Given the description of an element on the screen output the (x, y) to click on. 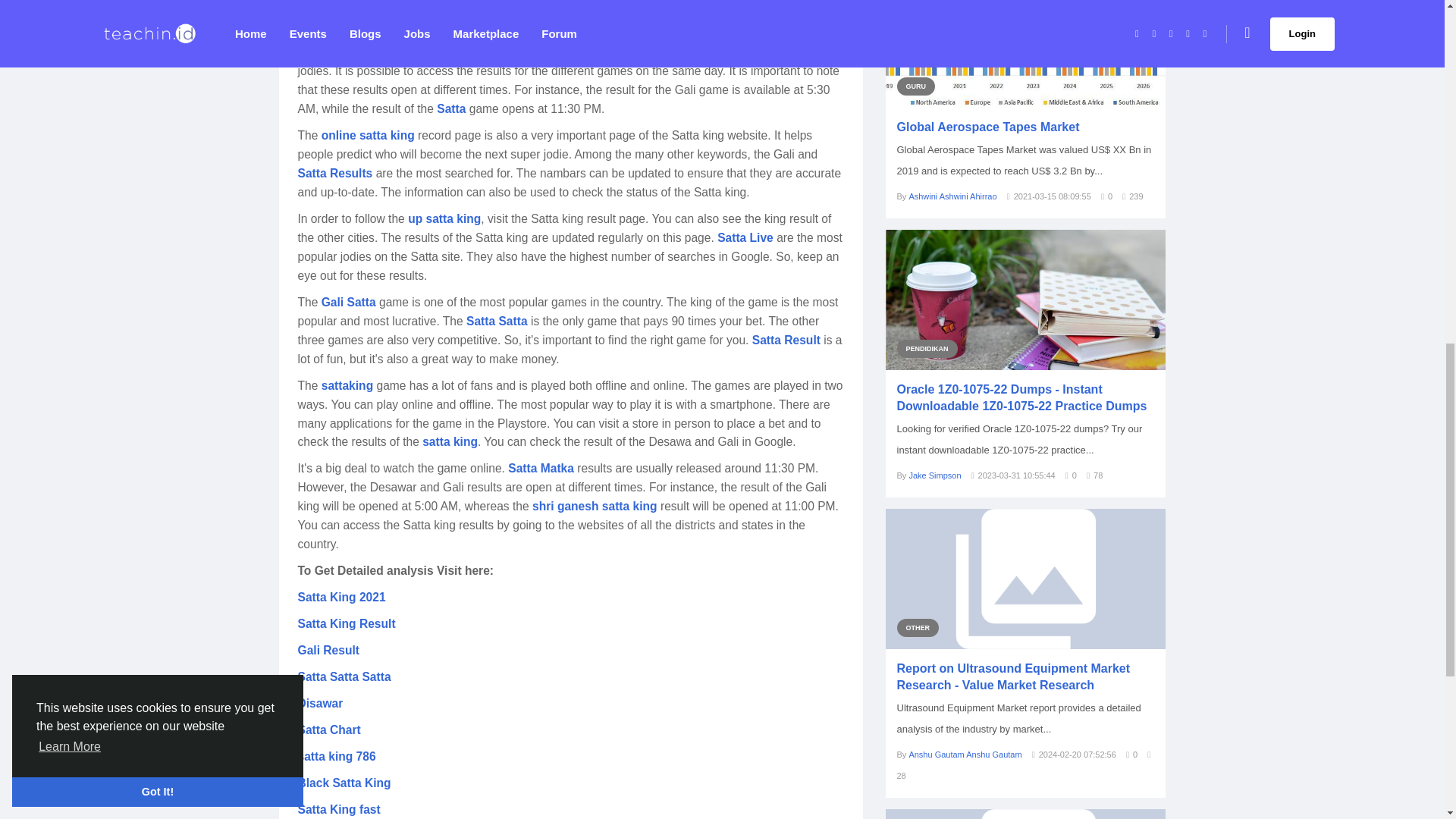
Satta Live (745, 238)
Satta Results (334, 173)
Satta (450, 108)
up satta king (443, 219)
Gali Satta (348, 302)
Satta Bajar (455, 26)
online satta king (367, 135)
Satta Satta (496, 321)
